Given the description of an element on the screen output the (x, y) to click on. 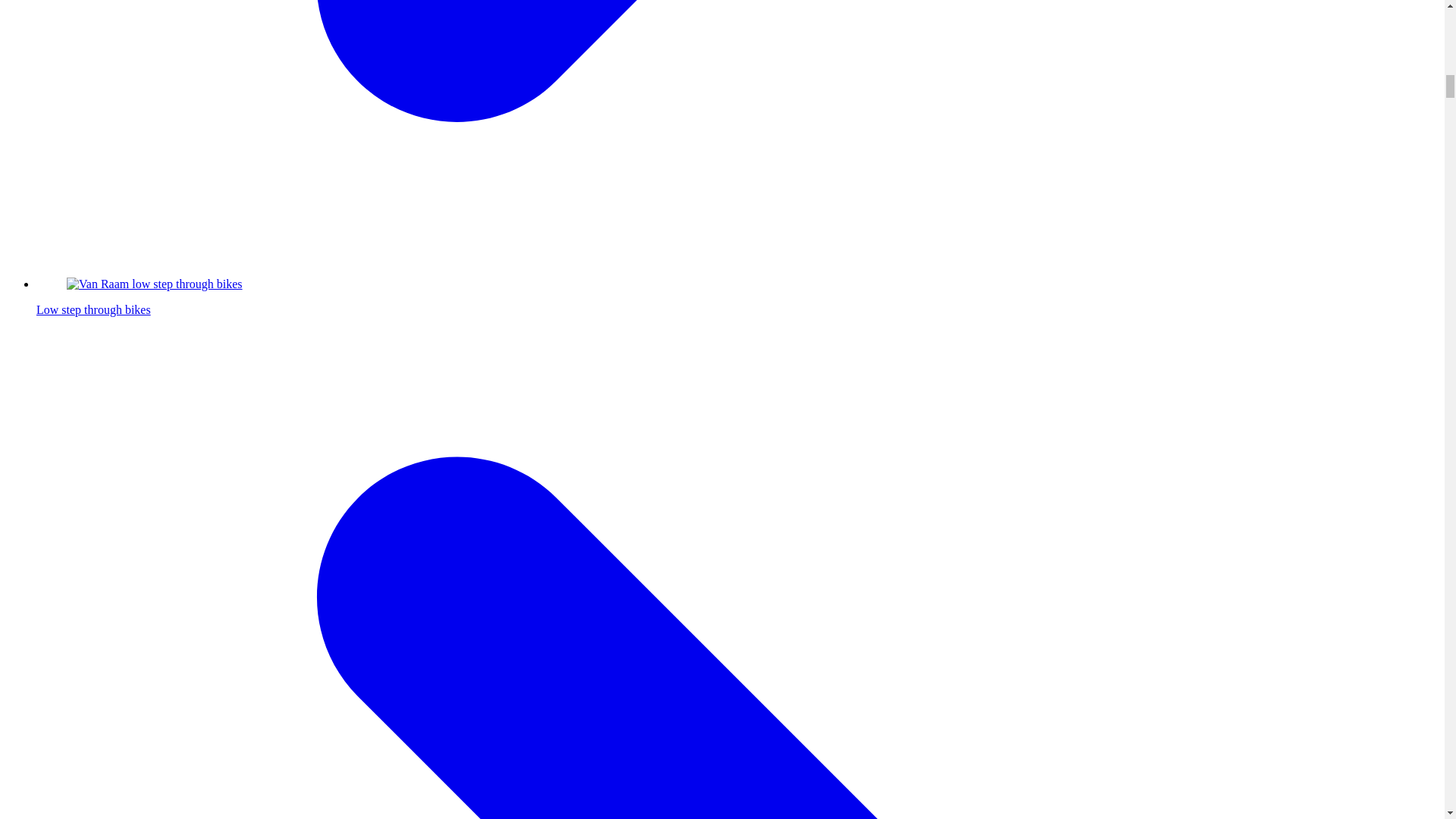
Van Raam low step through bikes (154, 284)
